Given the description of an element on the screen output the (x, y) to click on. 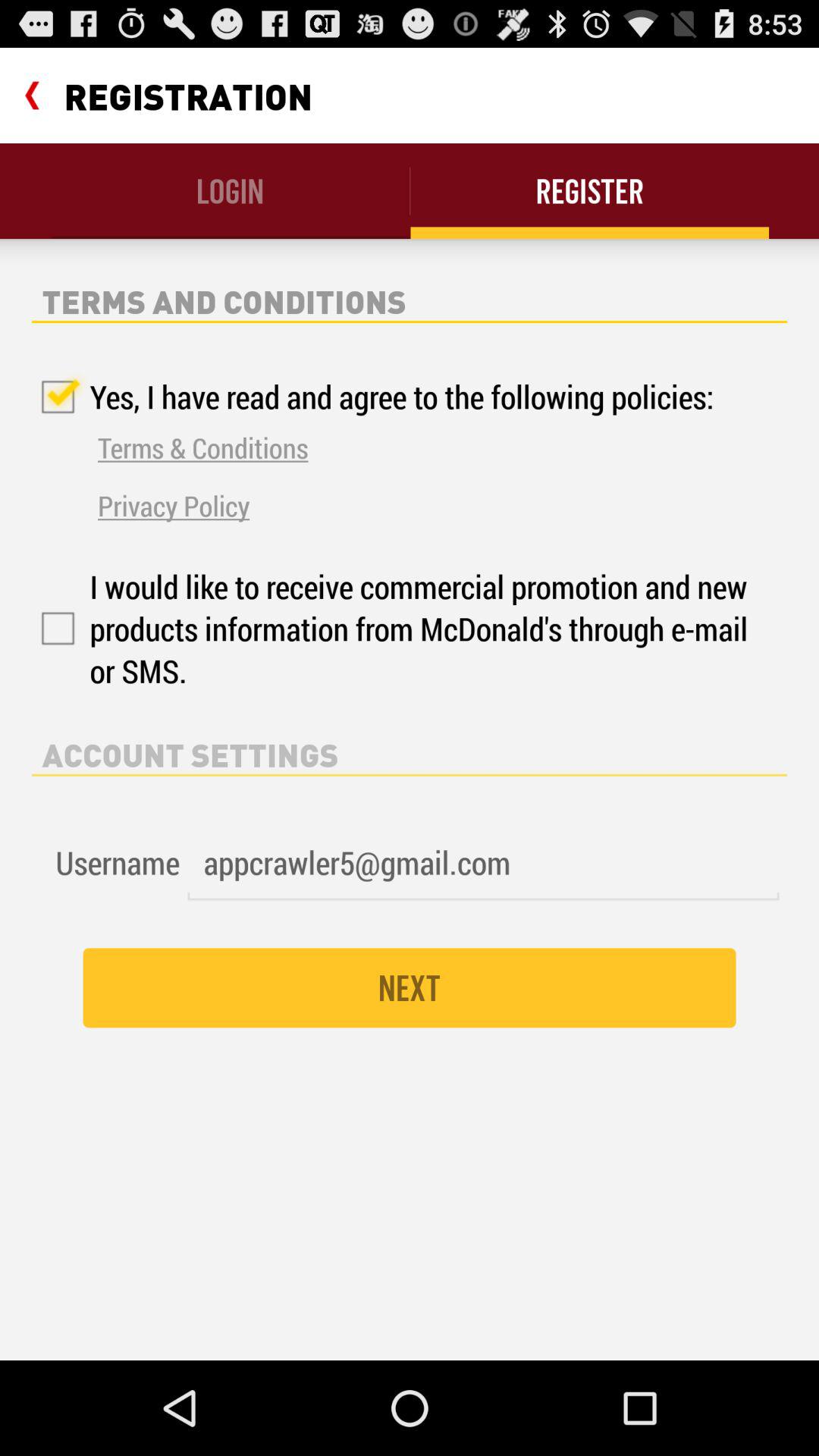
turn off appcrawler5@gmail.com item (483, 863)
